Given the description of an element on the screen output the (x, y) to click on. 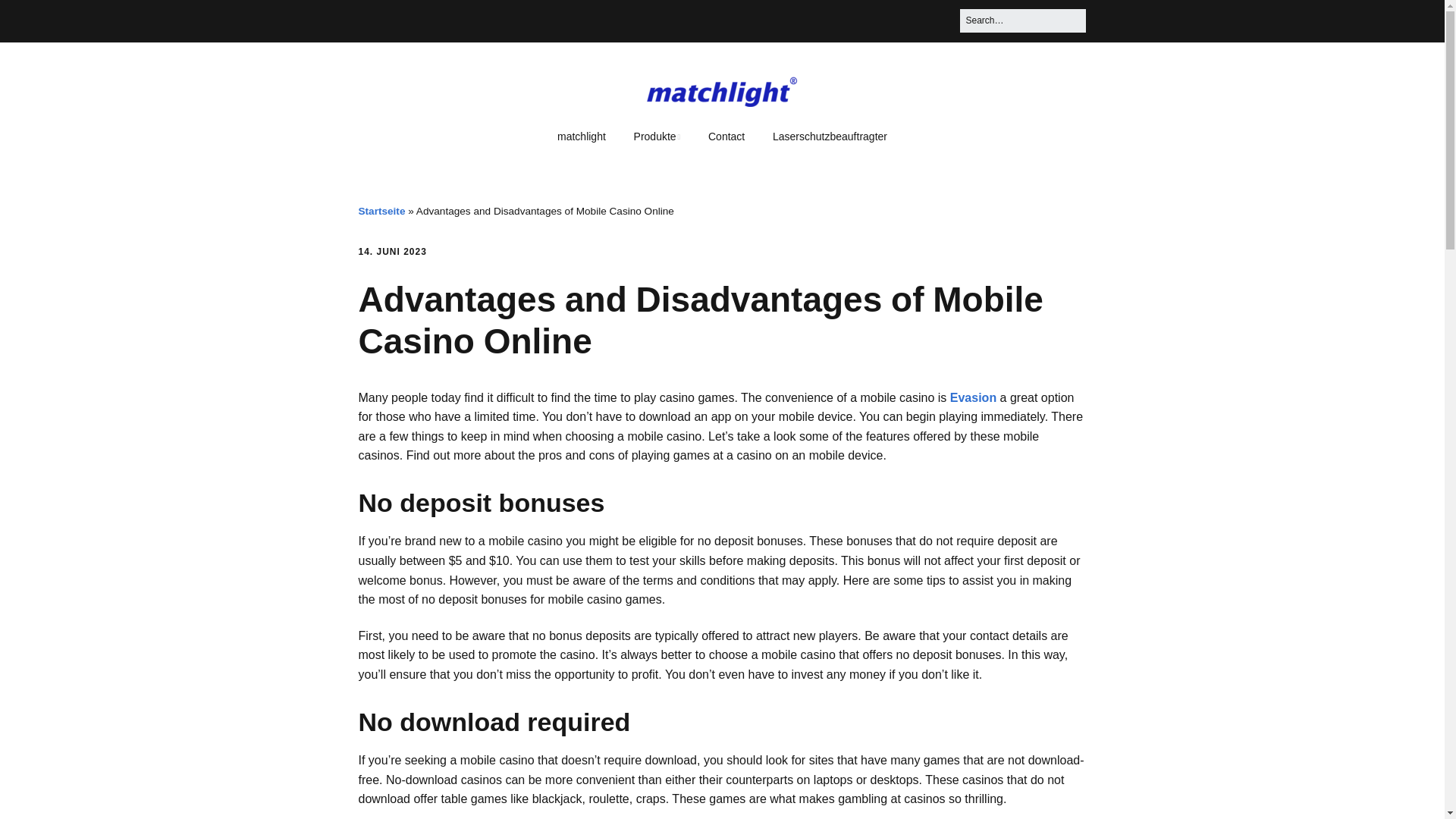
Laserschutzbeauftragter (829, 137)
Startseite (381, 211)
Search (29, 16)
Evasion (972, 397)
Contact (726, 137)
Produkte (657, 137)
matchlight (580, 137)
